Given the description of an element on the screen output the (x, y) to click on. 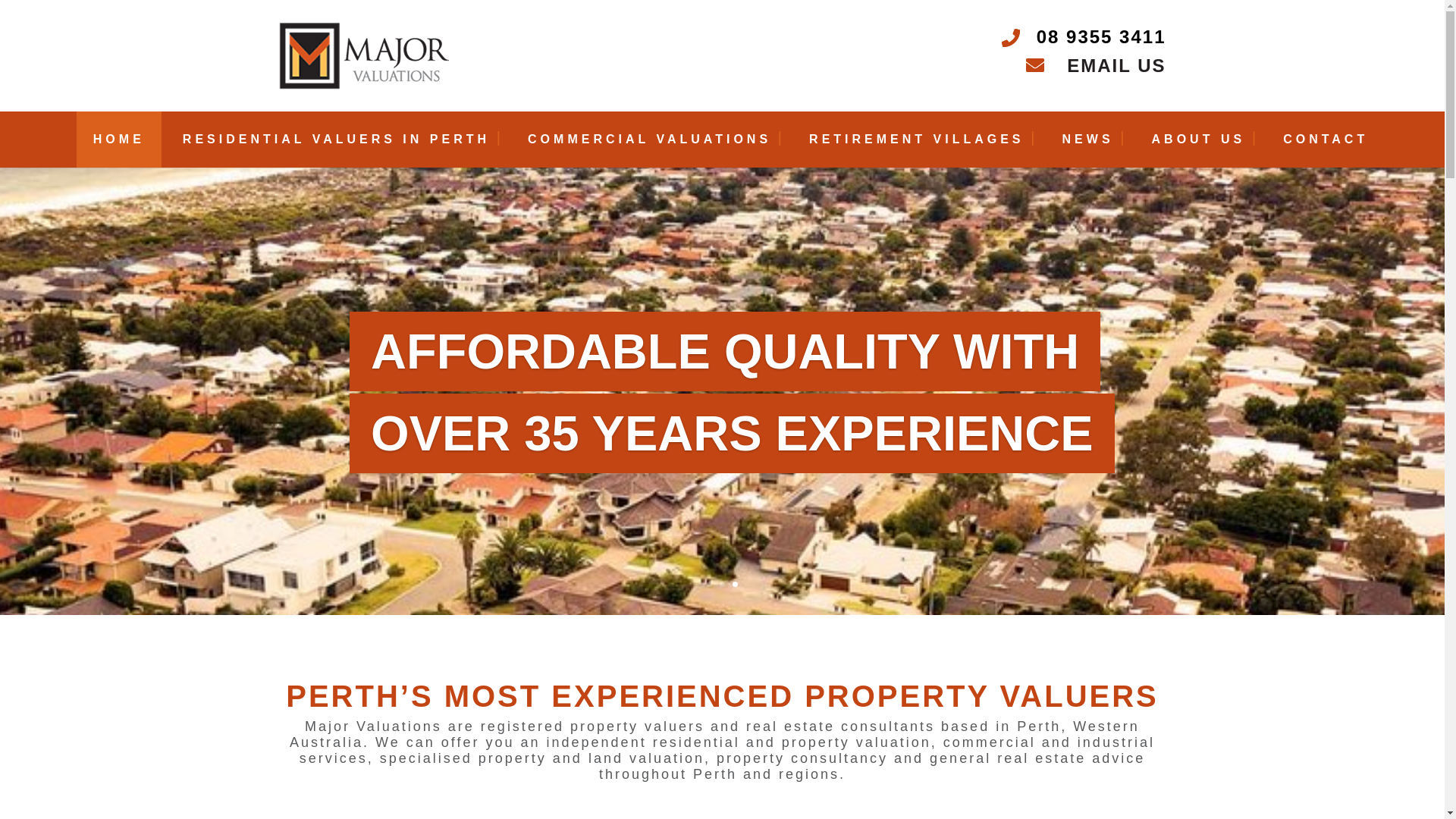
EMAIL US Element type: text (1096, 65)
2 Element type: text (721, 583)
08 9355 3411 Element type: text (1101, 36)
CONTACT Element type: text (1325, 145)
HOME Element type: text (118, 145)
ABOUT US Element type: text (1198, 145)
RETIREMENT VILLAGES Element type: text (916, 145)
3 Element type: text (734, 583)
1 Element type: text (709, 583)
RESIDENTIAL VALUERS IN PERTH Element type: text (335, 145)
NEWS Element type: text (1087, 145)
COMMERCIAL VALUATIONS Element type: text (649, 145)
